Given the description of an element on the screen output the (x, y) to click on. 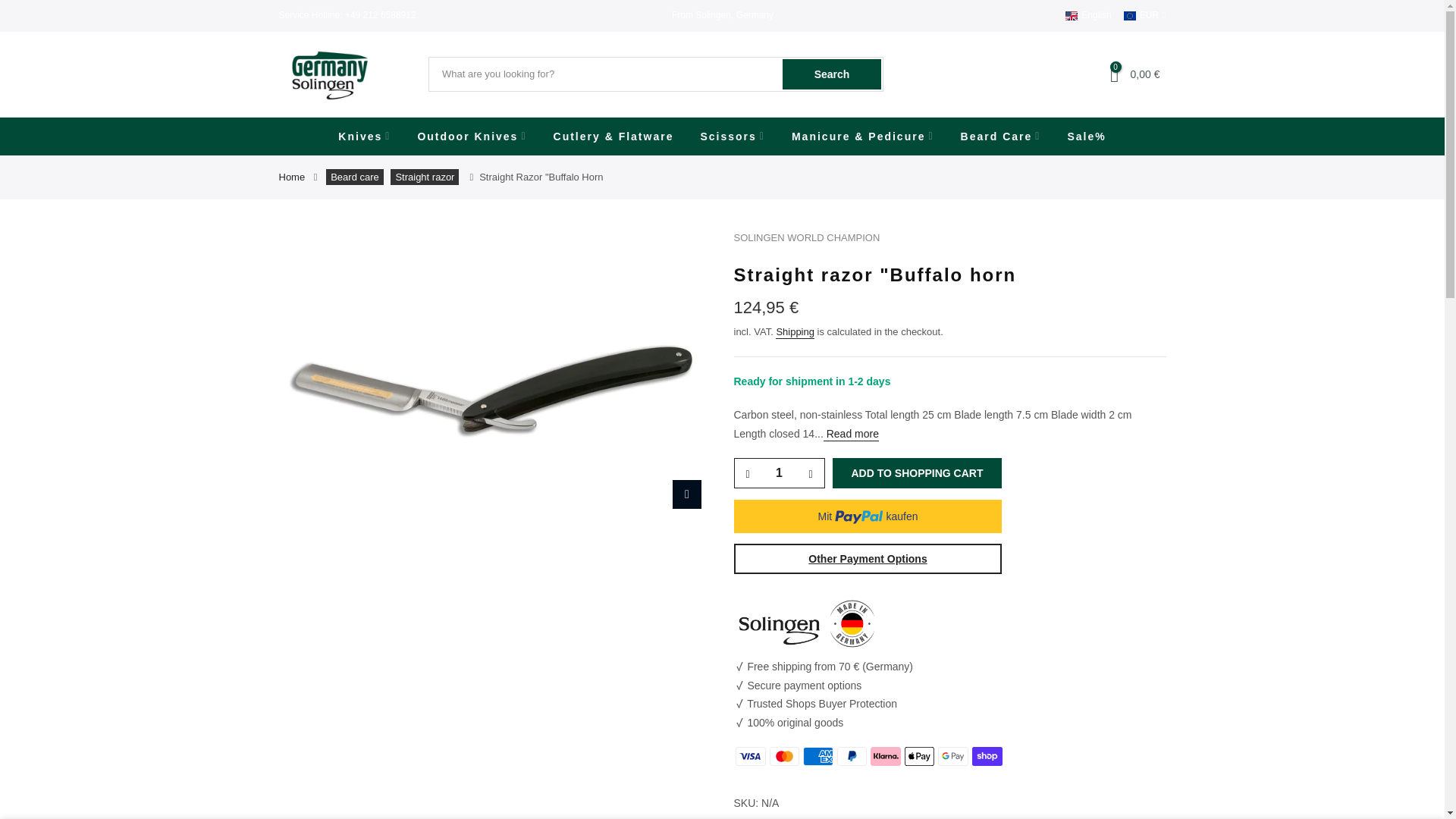
Scissors (732, 136)
1 (778, 472)
Search (831, 73)
Beard Care (1000, 136)
Outdoor Knives (472, 136)
0 (1114, 74)
Knives (364, 136)
